Given the description of an element on the screen output the (x, y) to click on. 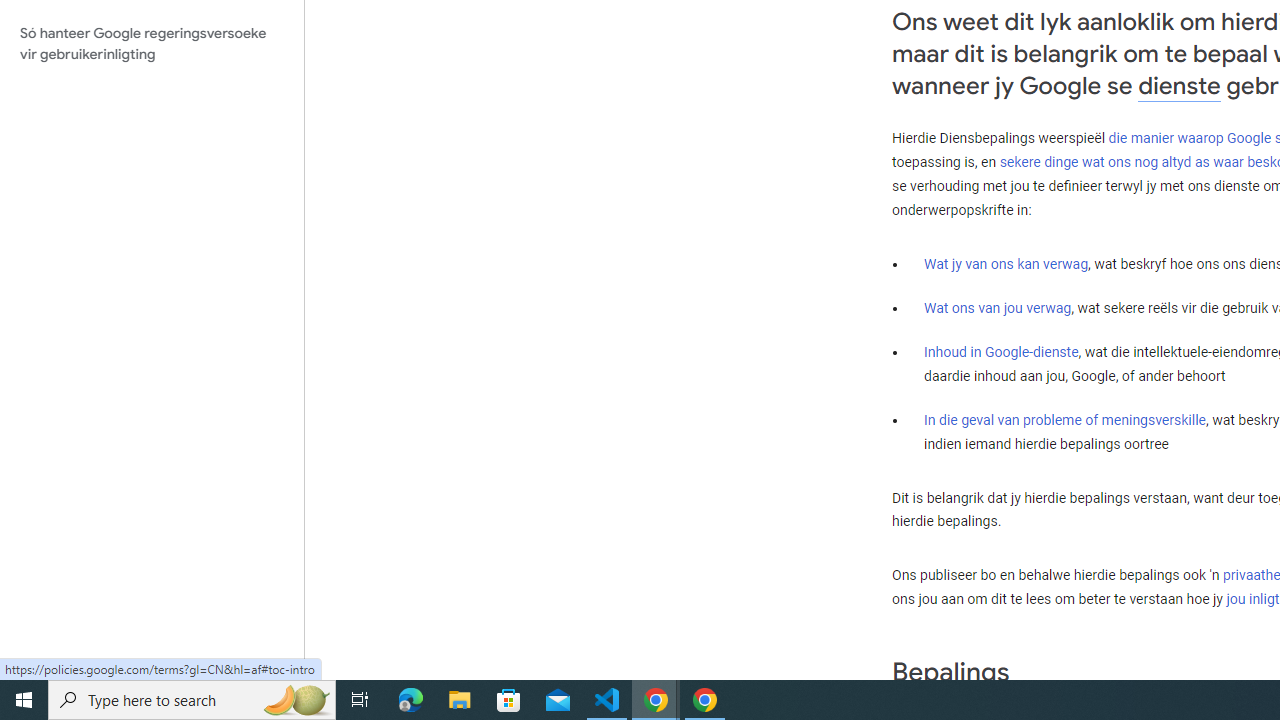
Inhoud in Google-dienste (1001, 351)
In die geval van probleme of meningsverskille (1064, 420)
Wat ons van jou verwag (998, 307)
dienste (1179, 85)
Wat jy van ons kan verwag (1006, 263)
